Given the description of an element on the screen output the (x, y) to click on. 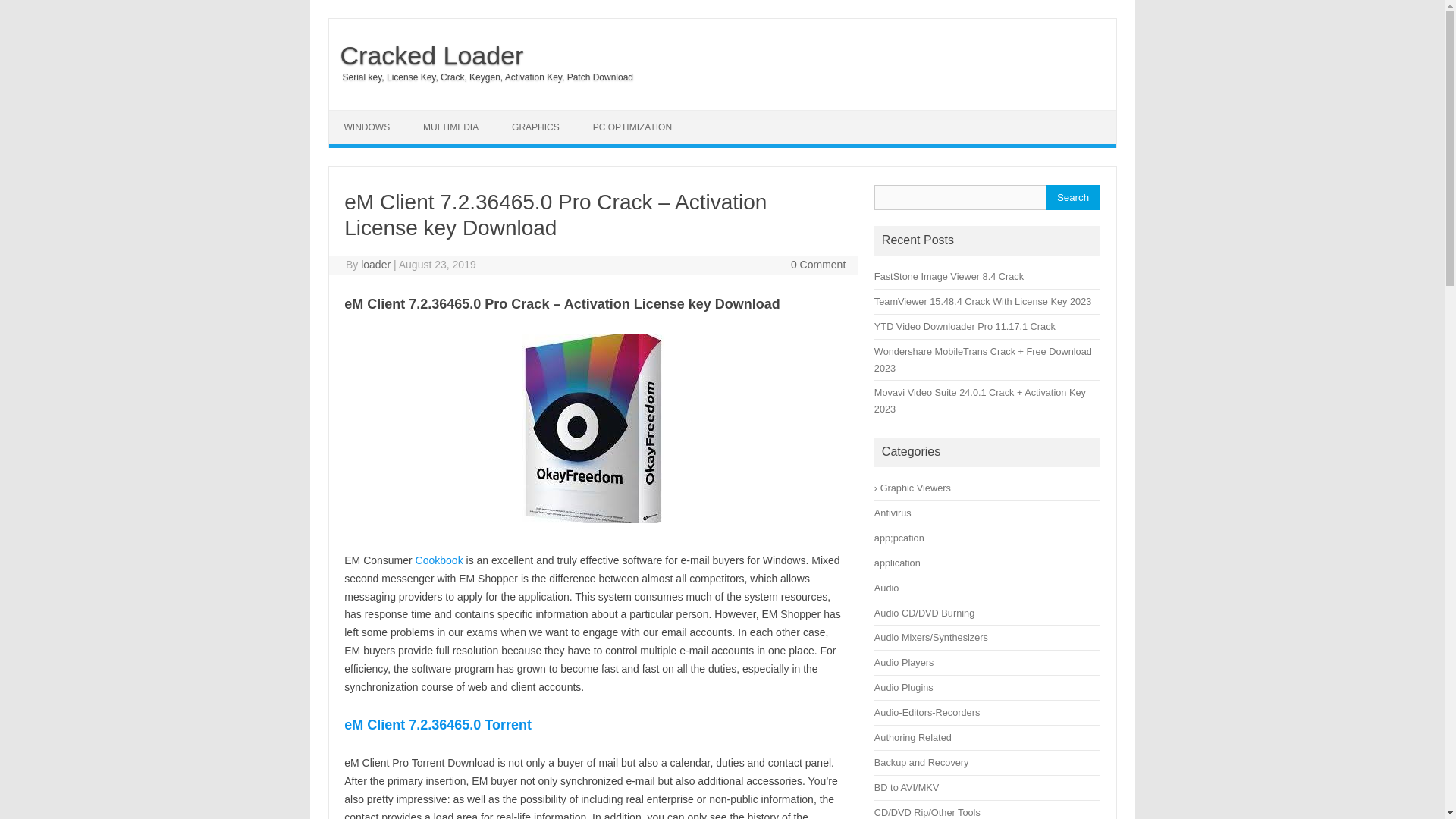
app;pcation (899, 537)
MULTIMEDIA (450, 127)
Cracked Loader (426, 54)
eM Client 7.2.36465.0 Torrent (437, 724)
application (897, 562)
Search (1072, 197)
YTD Video Downloader Pro 11.17.1 Crack (965, 326)
GRAPHICS (535, 127)
TeamViewer 15.48.4 Crack With License Key 2023 (982, 301)
